Given the description of an element on the screen output the (x, y) to click on. 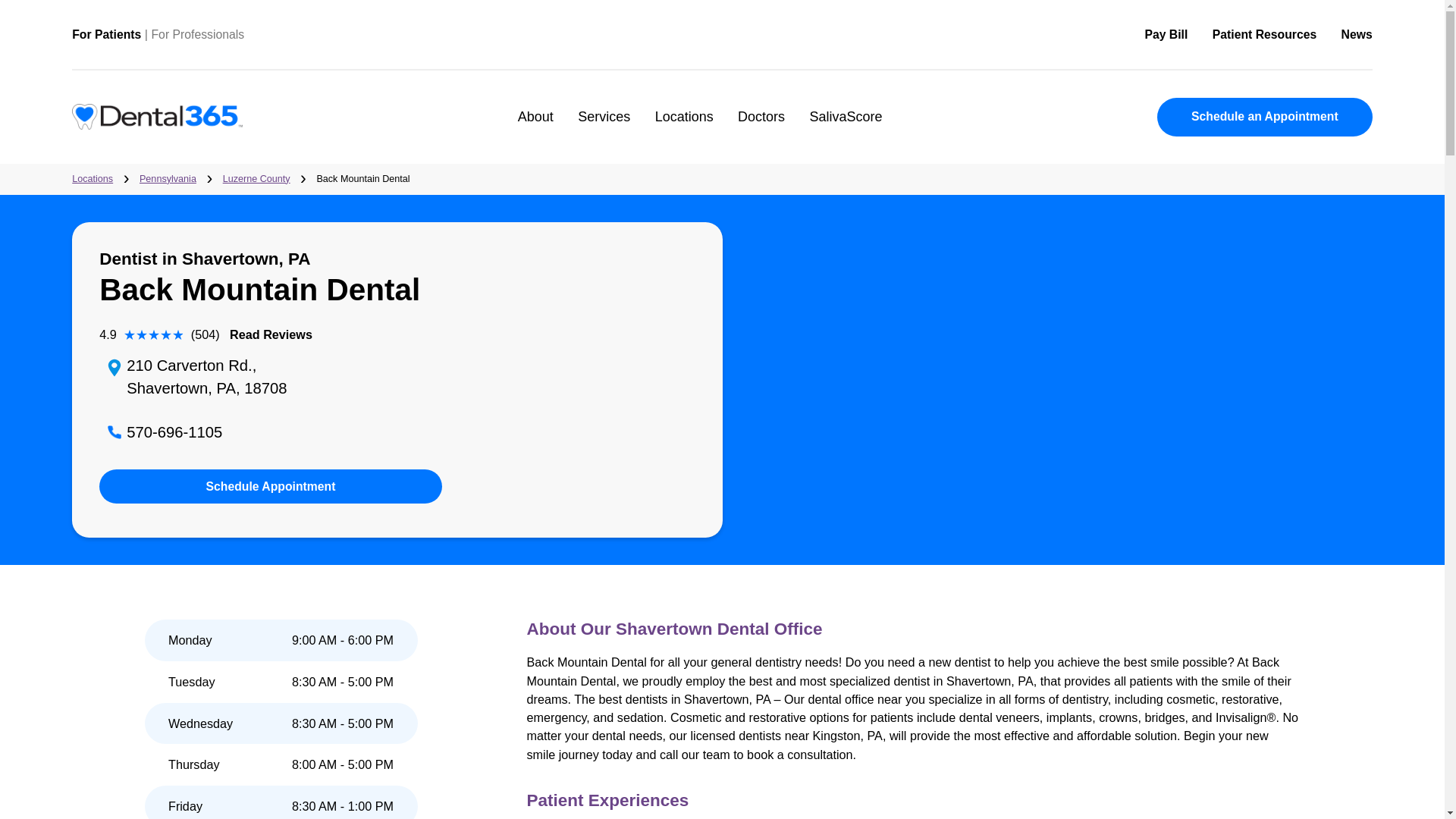
Doctors (845, 130)
Pay Bill (1295, 39)
Services (671, 130)
About (594, 130)
Luzerne County (284, 199)
570-696-1105 (194, 479)
For Professionals (219, 38)
Pennsylvania (185, 199)
Schedule an Appointment (1370, 129)
For Patients (118, 38)
SalivaScore (939, 130)
Pennsylvania (185, 199)
Luzerne County (229, 418)
Patient Resources (284, 199)
